Given the description of an element on the screen output the (x, y) to click on. 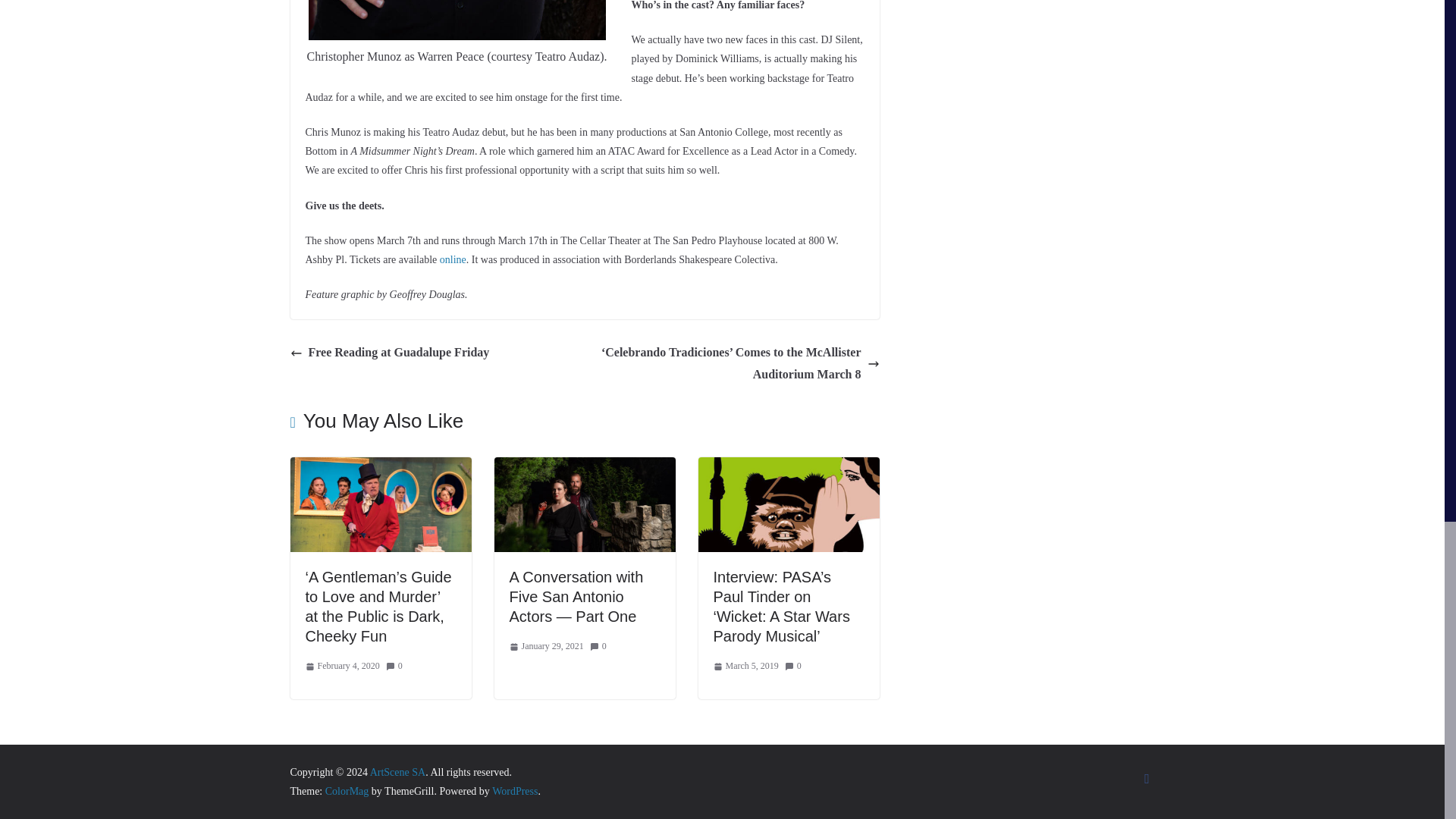
Free Reading at Guadalupe Friday (389, 352)
6:22 pm (546, 646)
online (452, 259)
March 5, 2019 (745, 666)
9:01 pm (745, 666)
7:15 pm (341, 666)
January 29, 2021 (546, 646)
February 4, 2020 (341, 666)
